Given the description of an element on the screen output the (x, y) to click on. 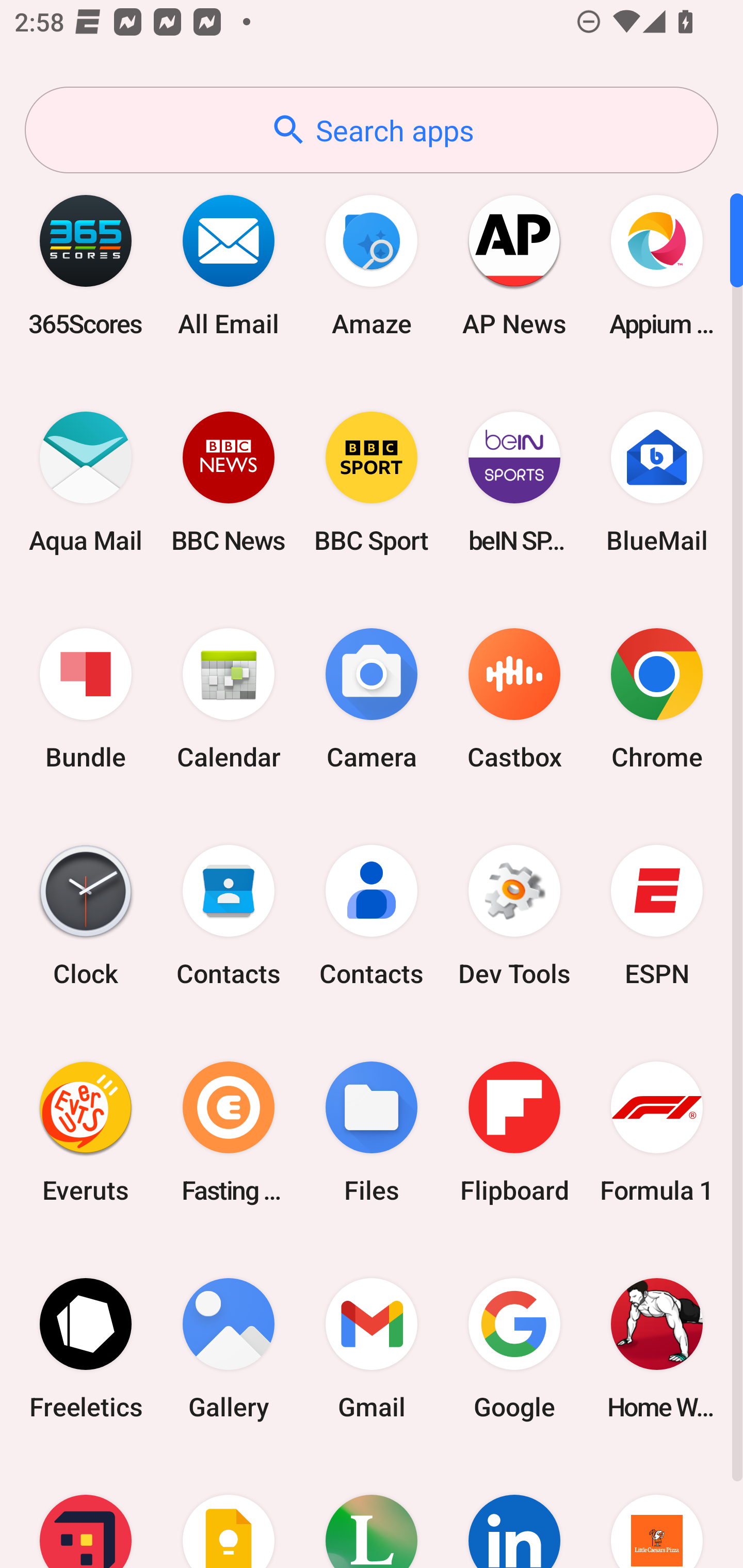
  Search apps (371, 130)
365Scores (85, 264)
All Email (228, 264)
Amaze (371, 264)
AP News (514, 264)
Appium Settings (656, 264)
Aqua Mail (85, 482)
BBC News (228, 482)
BBC Sport (371, 482)
beIN SPORTS (514, 482)
BlueMail (656, 482)
Bundle (85, 699)
Calendar (228, 699)
Camera (371, 699)
Castbox (514, 699)
Chrome (656, 699)
Clock (85, 915)
Contacts (228, 915)
Contacts (371, 915)
Dev Tools (514, 915)
ESPN (656, 915)
Everuts (85, 1131)
Fasting Coach (228, 1131)
Files (371, 1131)
Flipboard (514, 1131)
Formula 1 (656, 1131)
Freeletics (85, 1348)
Gallery (228, 1348)
Gmail (371, 1348)
Google (514, 1348)
Home Workout (656, 1348)
Hotels.com (85, 1512)
Keep Notes (228, 1512)
Lifesum (371, 1512)
LinkedIn (514, 1512)
Little Caesars Pizza (656, 1512)
